Given the description of an element on the screen output the (x, y) to click on. 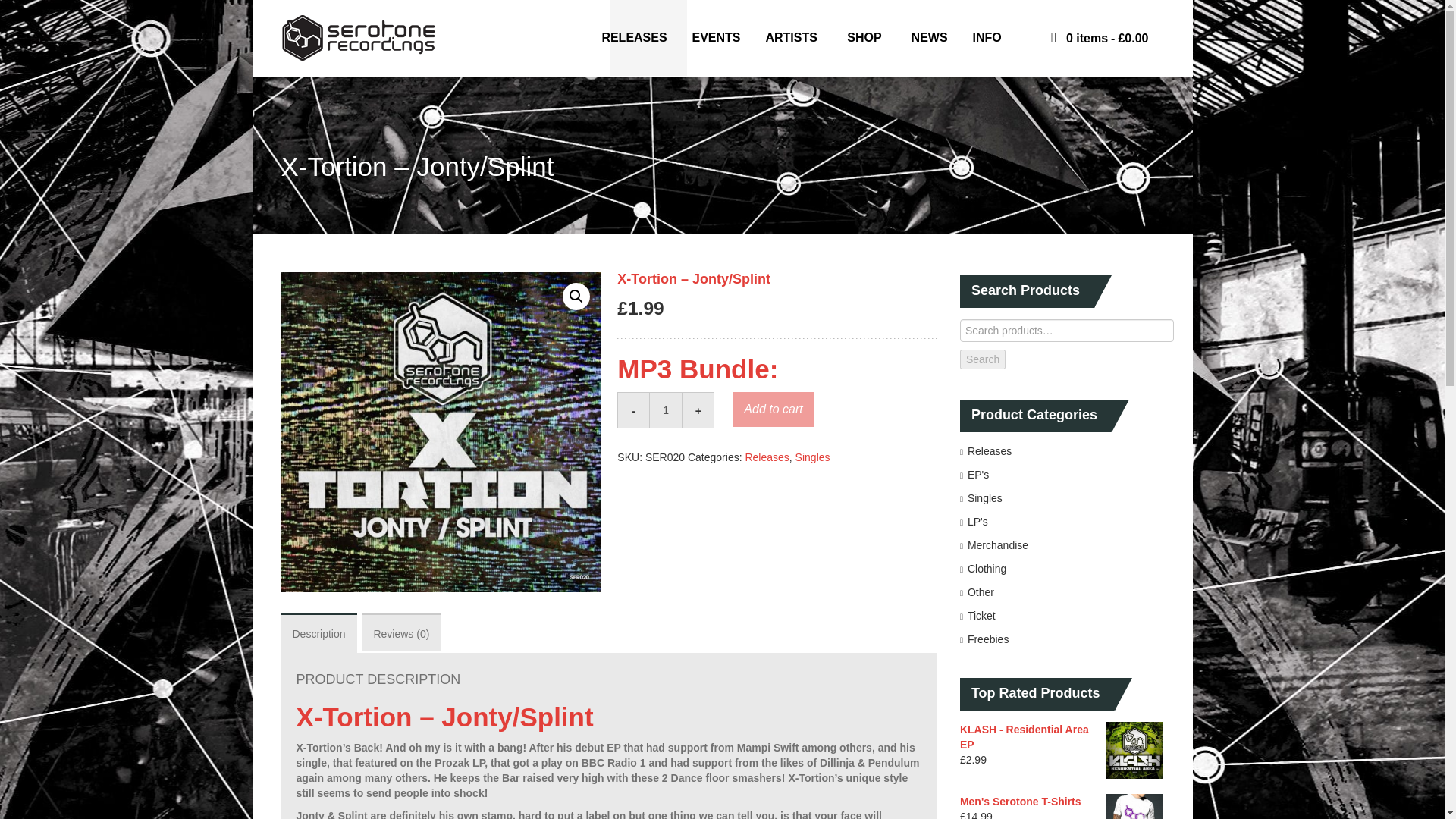
RELEASES (633, 38)
Qty (671, 410)
1 (671, 410)
EVENTS (716, 38)
Singles (811, 457)
SER020 X Tortion Jonty Splint (440, 431)
Releases (766, 457)
Description (318, 632)
Add to cart (772, 409)
Start shopping (1089, 38)
- (633, 410)
ARTISTS (793, 38)
